Given the description of an element on the screen output the (x, y) to click on. 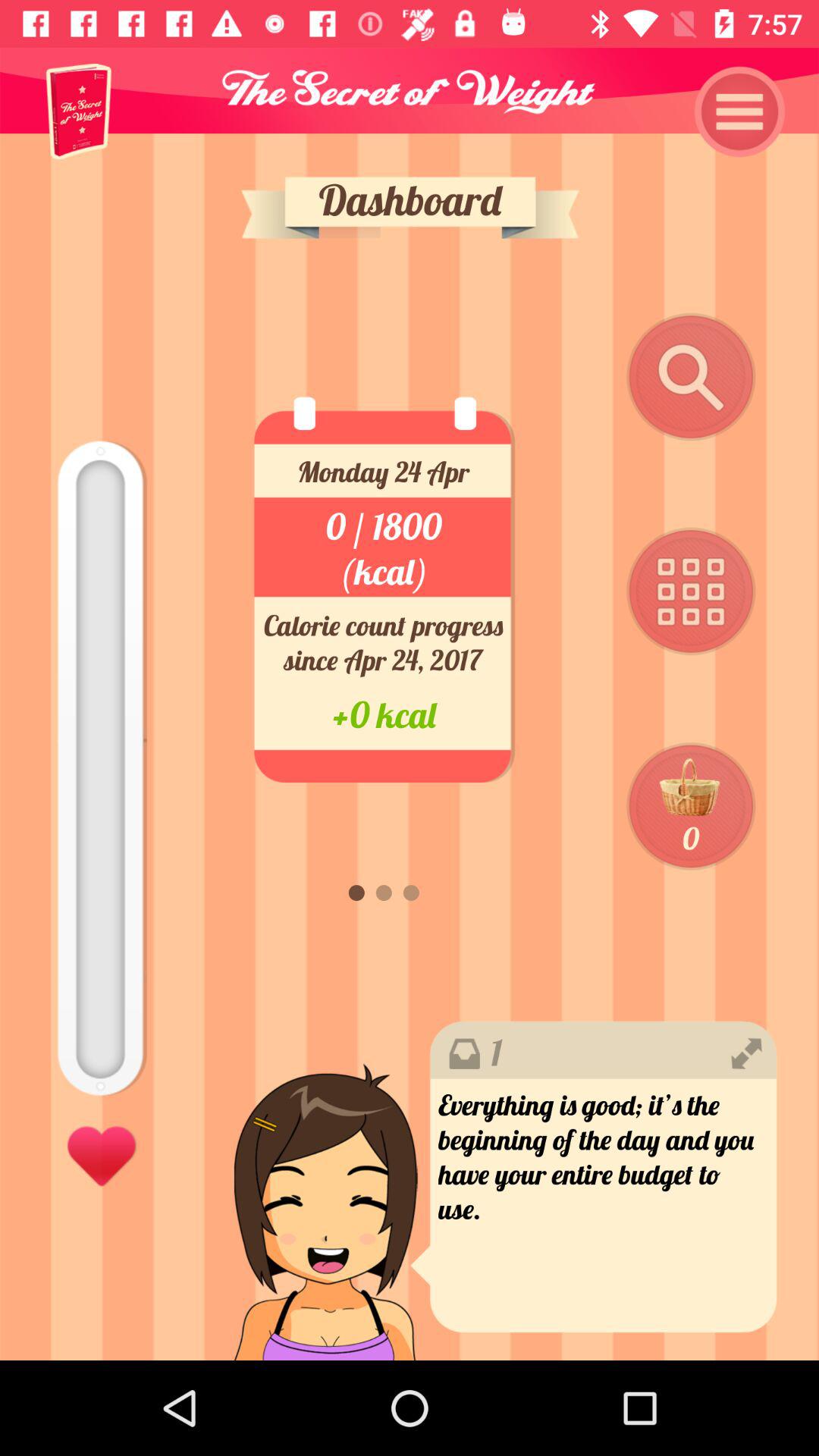
turn off item at the top left corner (78, 111)
